Given the description of an element on the screen output the (x, y) to click on. 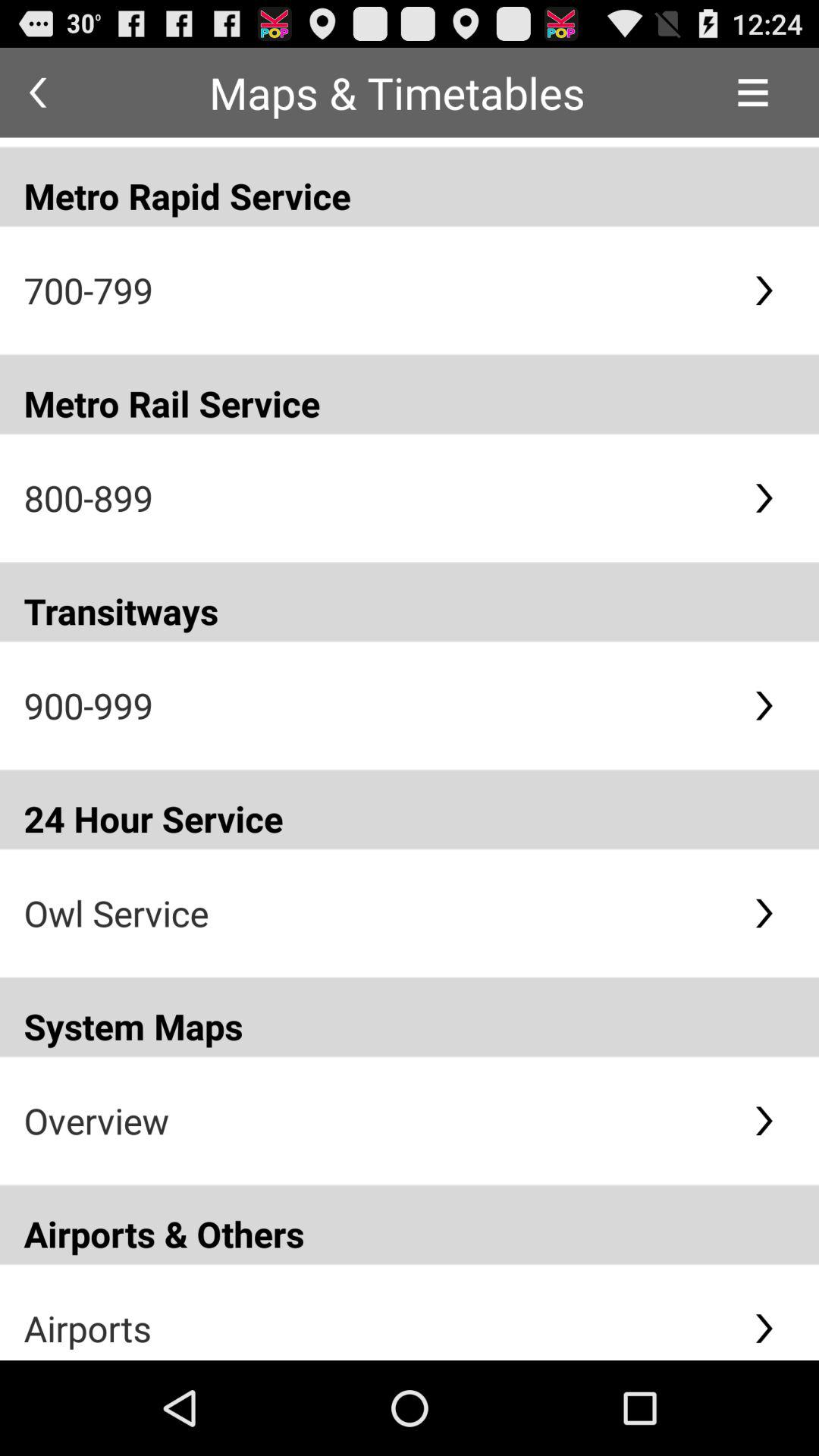
click the transitways item (409, 601)
